Given the description of an element on the screen output the (x, y) to click on. 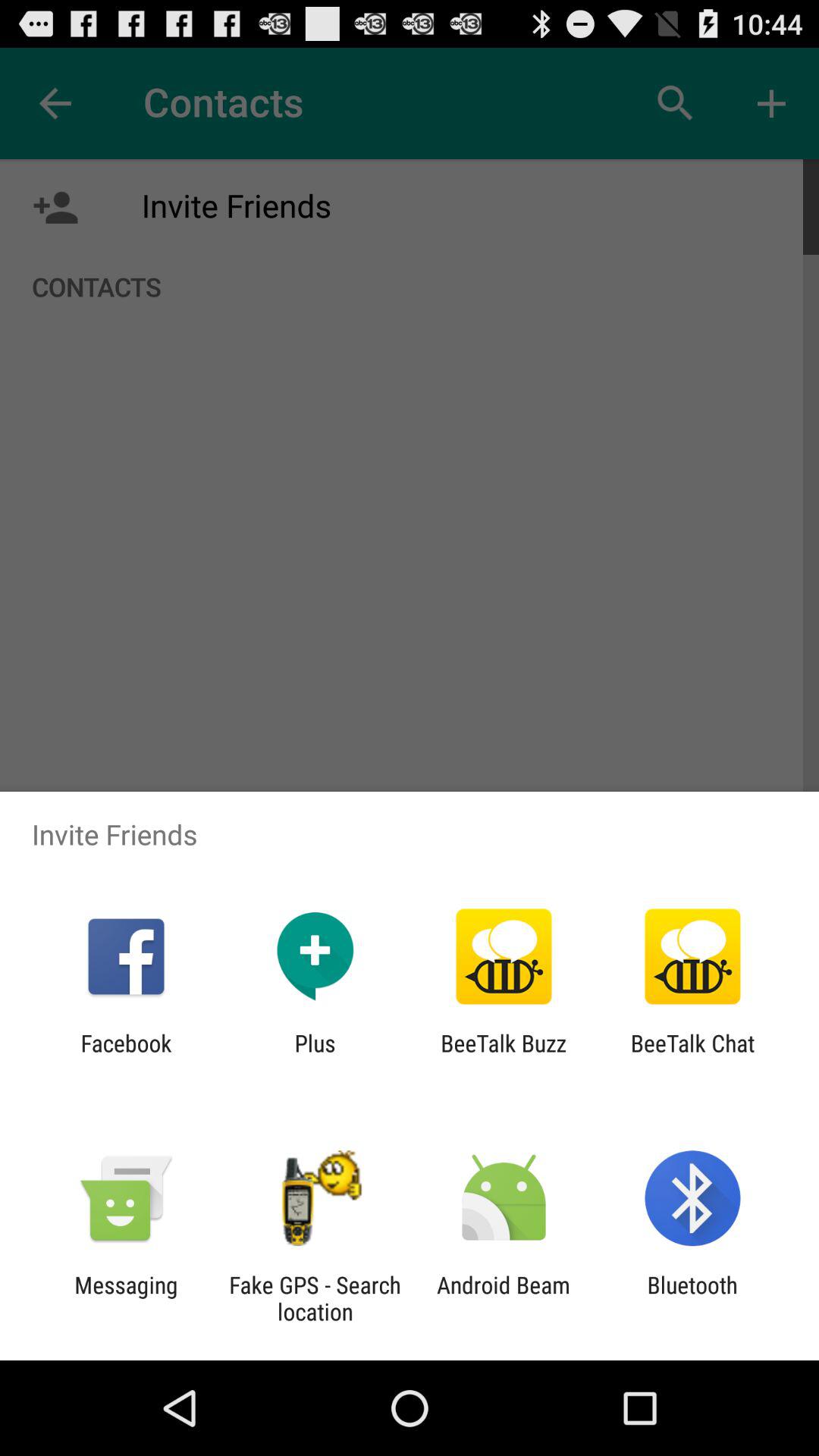
turn off icon to the right of android beam (692, 1298)
